Given the description of an element on the screen output the (x, y) to click on. 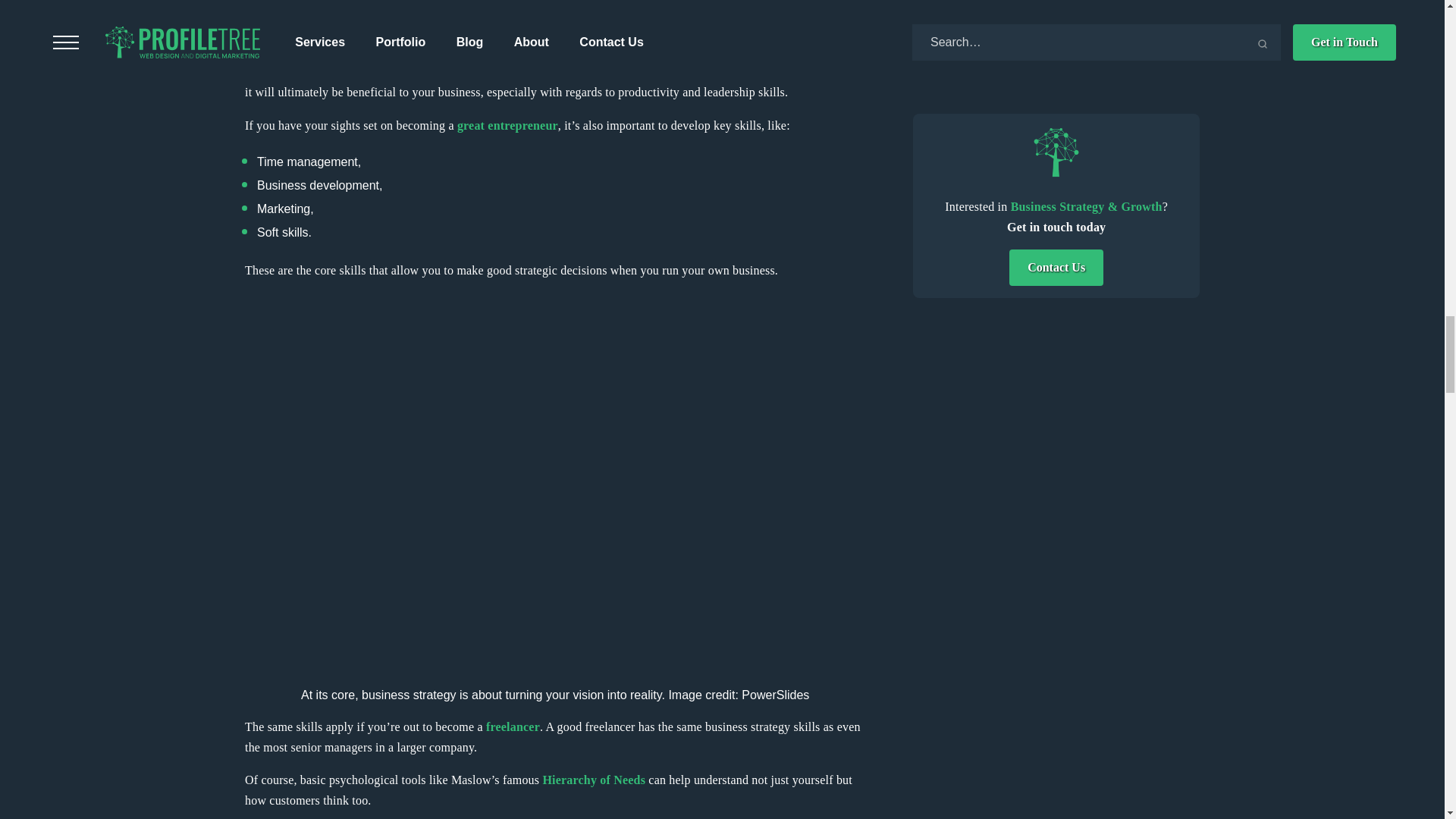
great entrepreneur (507, 124)
Hierarchy of Needs (593, 779)
self-motivation (454, 71)
business empire (450, 18)
freelancer (513, 726)
